Given the description of an element on the screen output the (x, y) to click on. 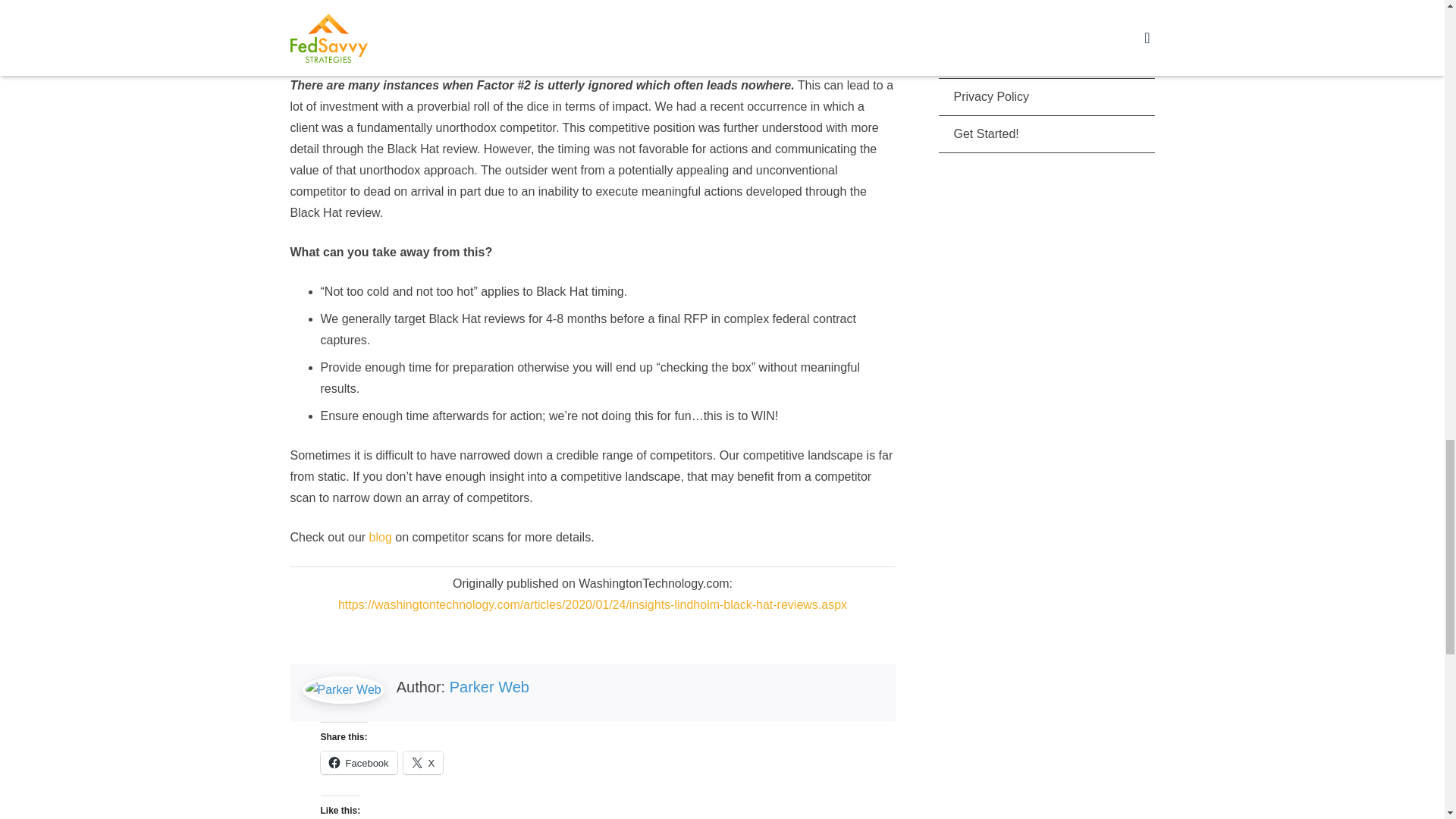
Parker Web (489, 686)
Click to share on Facebook (358, 762)
X (423, 762)
Click to share on X (423, 762)
blog (382, 536)
Facebook (358, 762)
